Given the description of an element on the screen output the (x, y) to click on. 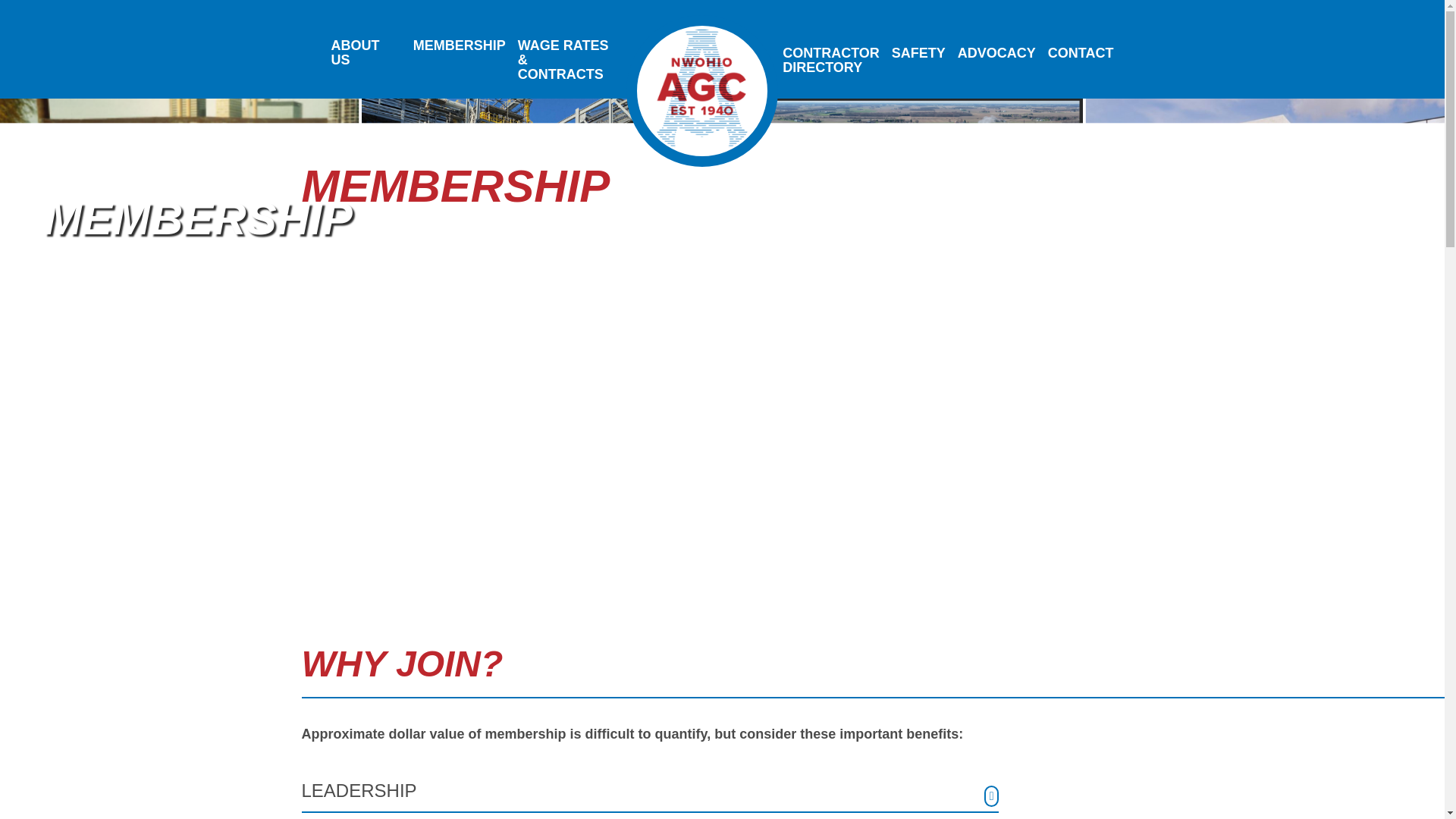
About Us (365, 52)
MEMBERSHIP (459, 45)
Advocacy (997, 53)
ABOUT US (365, 52)
LEADERSHIP (649, 795)
Contact (1080, 53)
ADVOCACY (997, 53)
Contractor Directory (830, 60)
CONTACT (830, 60)
SAFETY (1080, 53)
Safety (918, 53)
Membership (918, 53)
